Given the description of an element on the screen output the (x, y) to click on. 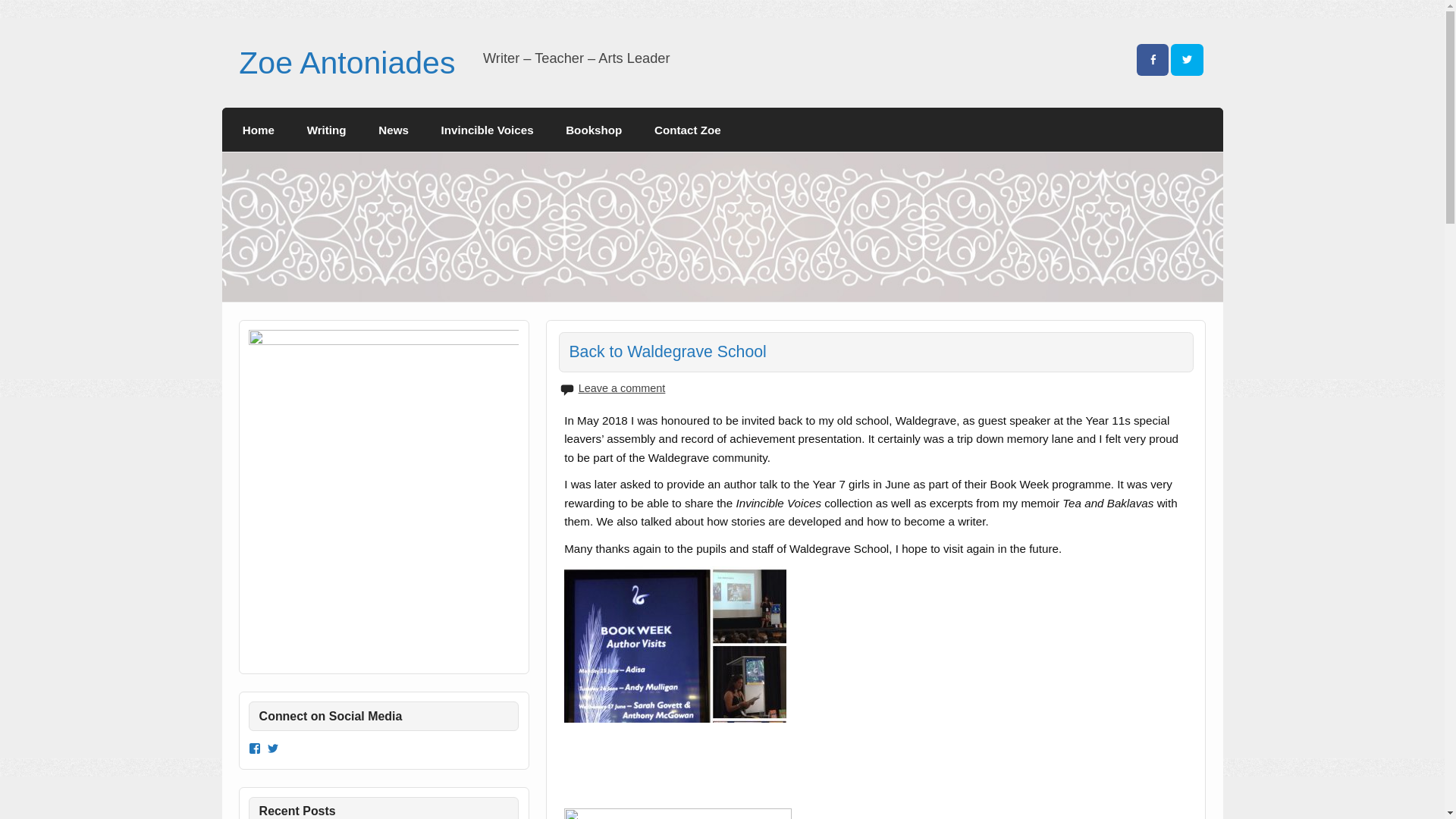
Invincible Voices (487, 129)
Leave a comment (621, 387)
Writing (325, 129)
Bookshop (594, 129)
News (393, 129)
Zoe Antoniades (346, 62)
Contact Zoe (687, 129)
Home (259, 129)
